Given the description of an element on the screen output the (x, y) to click on. 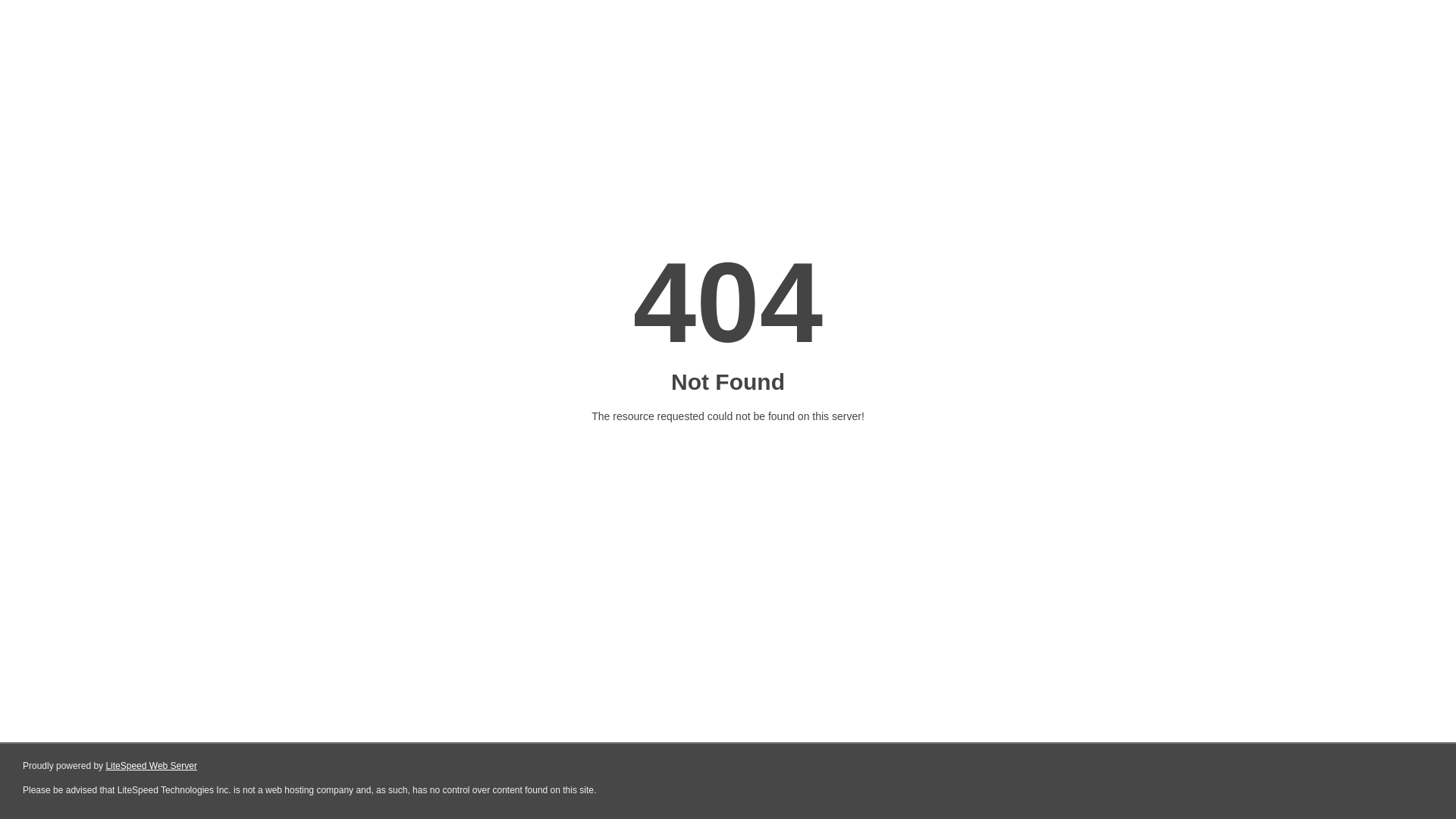
LiteSpeed Web Server Element type: text (151, 765)
